Given the description of an element on the screen output the (x, y) to click on. 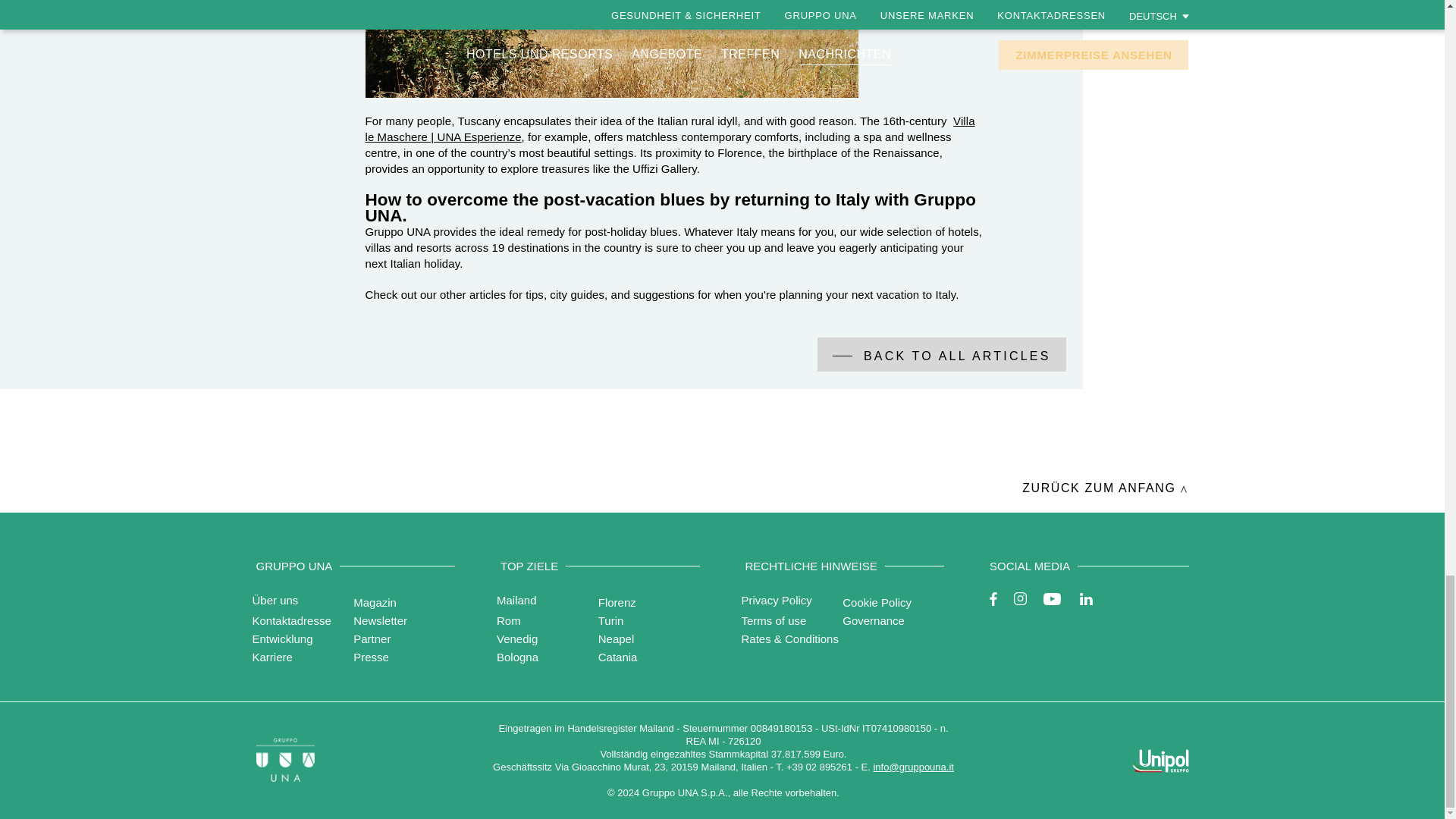
Partner (371, 638)
Magazin (374, 602)
Entwicklung (282, 638)
BACK TO ALL ARTICLES (940, 354)
Newsletter (380, 620)
Kontaktadresse (290, 620)
